Given the description of an element on the screen output the (x, y) to click on. 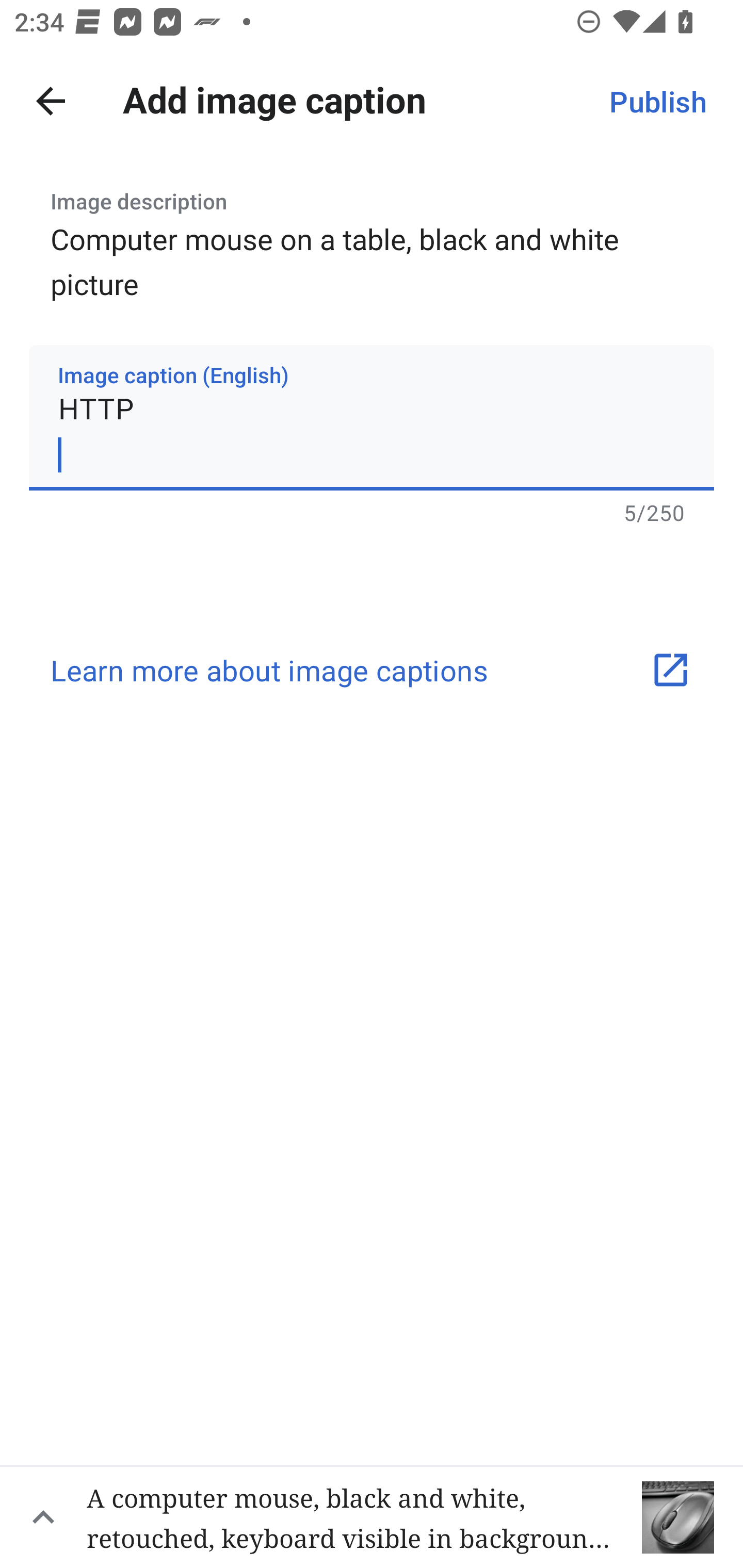
Cancel (50, 101)
Publish (657, 101)
HTTP
 (371, 417)
Learn more about image captions (371, 670)
